Given the description of an element on the screen output the (x, y) to click on. 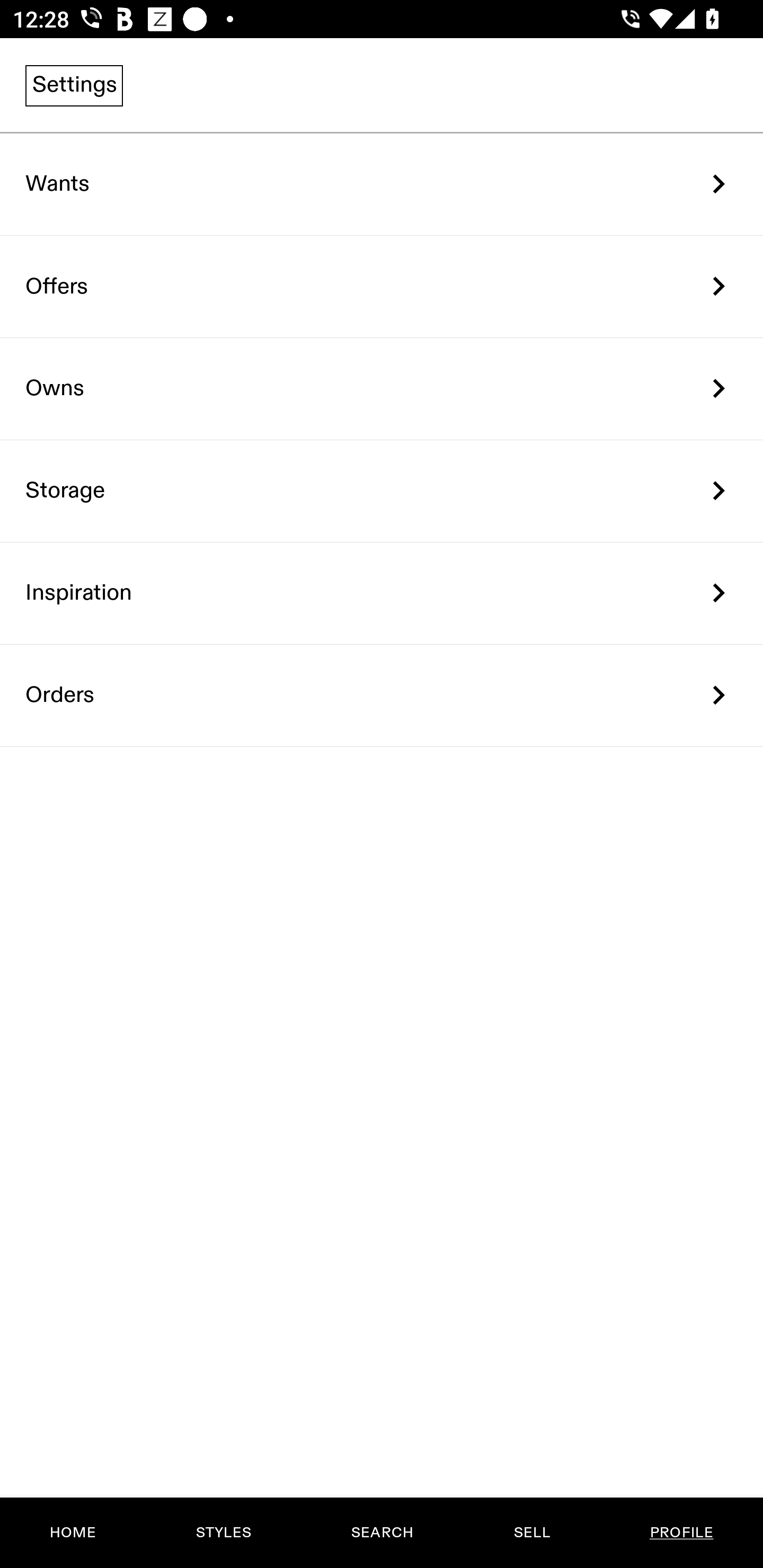
Settings (73, 85)
Wants (381, 184)
Offers (381, 286)
Owns (381, 388)
Storage (381, 491)
Inspiration (381, 593)
Orders (381, 695)
HOME (72, 1532)
STYLES (222, 1532)
SEARCH (381, 1532)
SELL (531, 1532)
PROFILE (681, 1532)
